Given the description of an element on the screen output the (x, y) to click on. 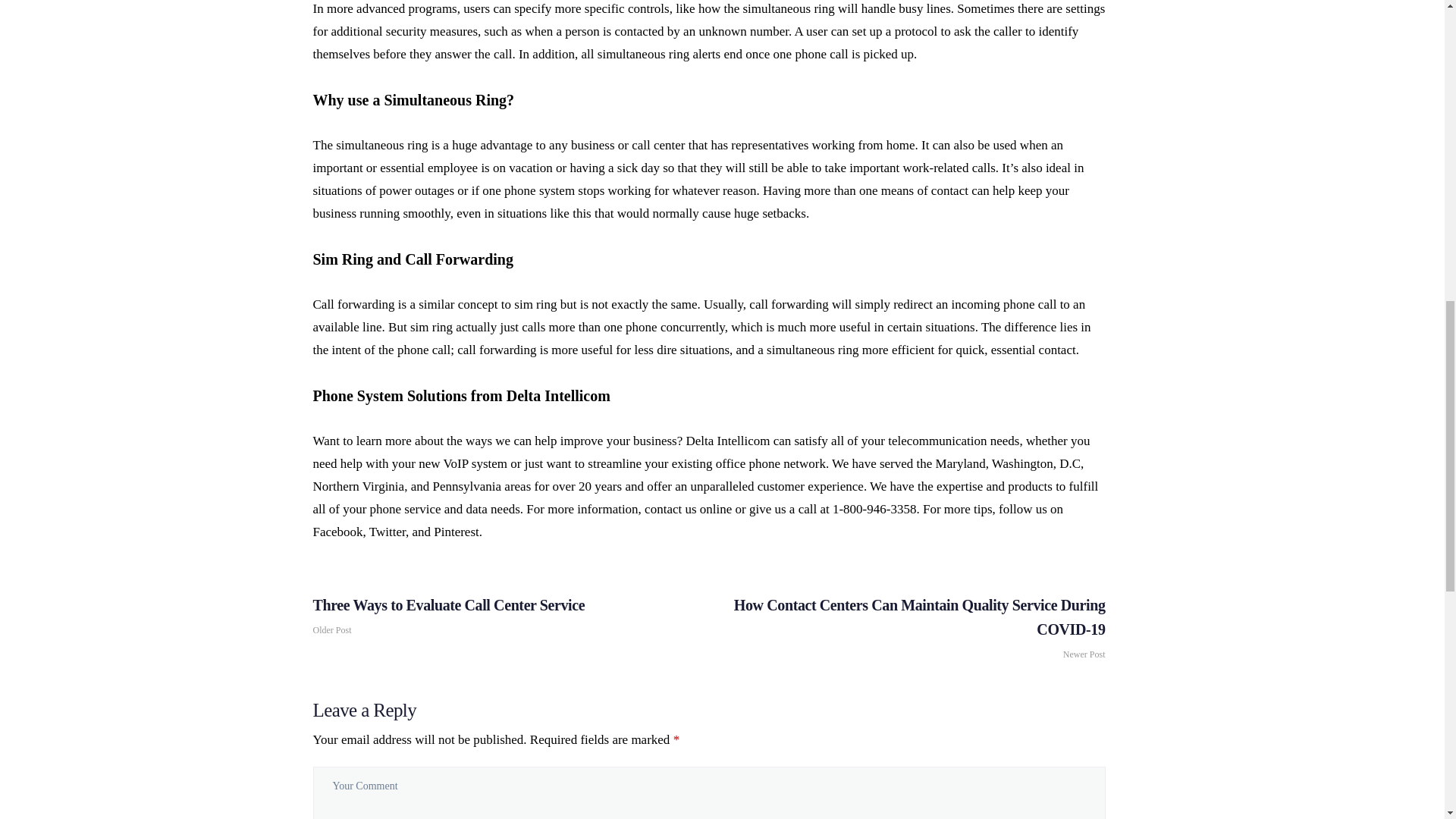
Three Ways to Evaluate Call Center Service (507, 615)
